Given the description of an element on the screen output the (x, y) to click on. 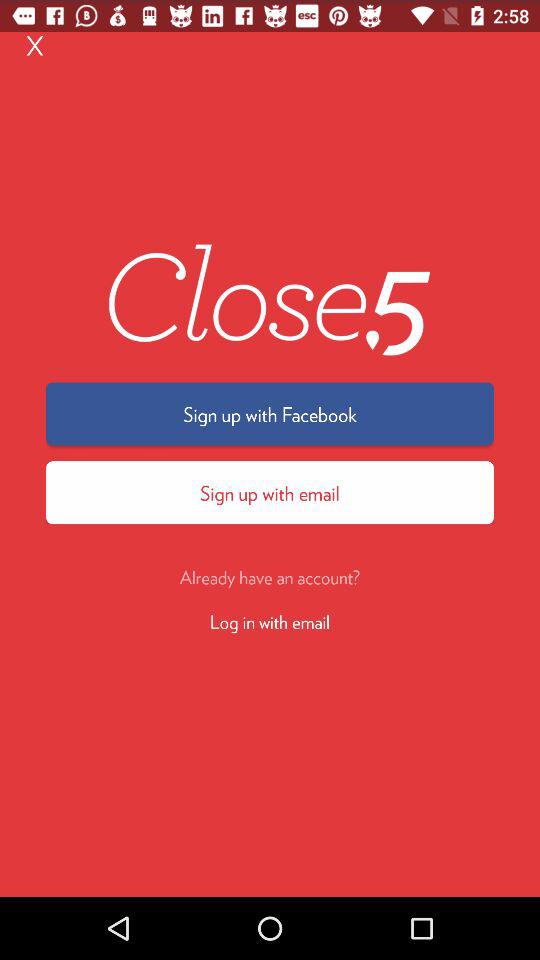
click x item (35, 44)
